Given the description of an element on the screen output the (x, y) to click on. 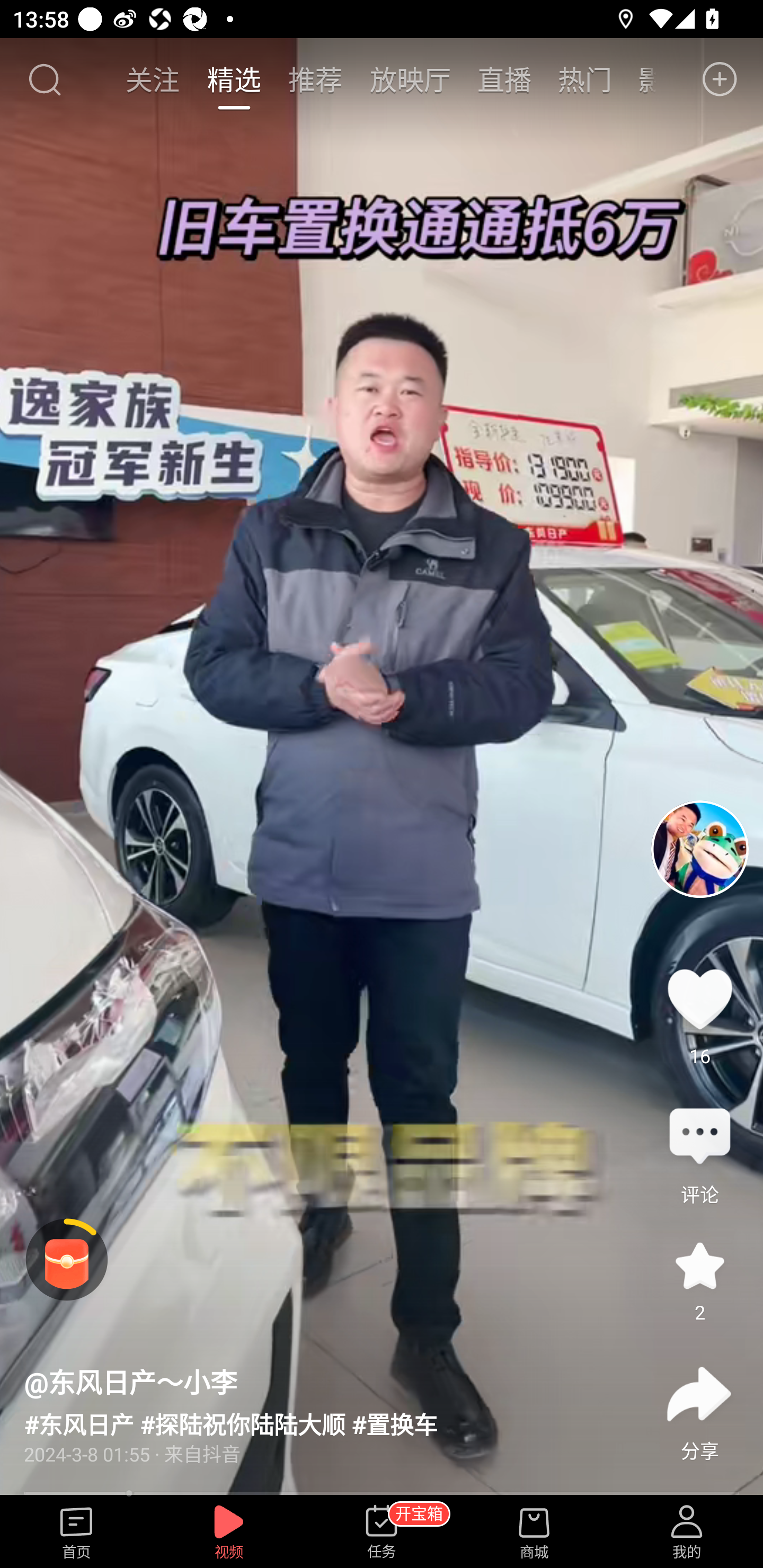
关注 (153, 79)
精选 (233, 79)
推荐 (315, 79)
放映厅 (409, 79)
直播 (504, 79)
热门 (584, 79)
搜索 (44, 79)
发布 (720, 79)
头像 (699, 848)
点赞16 16 (699, 998)
评论 评论 评论 (699, 1137)
收藏 2 (699, 1265)
阅读赚金币 (66, 1259)
分享 (699, 1393)
@东风日产～小李 (130, 1382)
首页 (76, 1532)
视频 (228, 1532)
任务 开宝箱 (381, 1532)
商城 (533, 1532)
我的 (686, 1532)
